Given the description of an element on the screen output the (x, y) to click on. 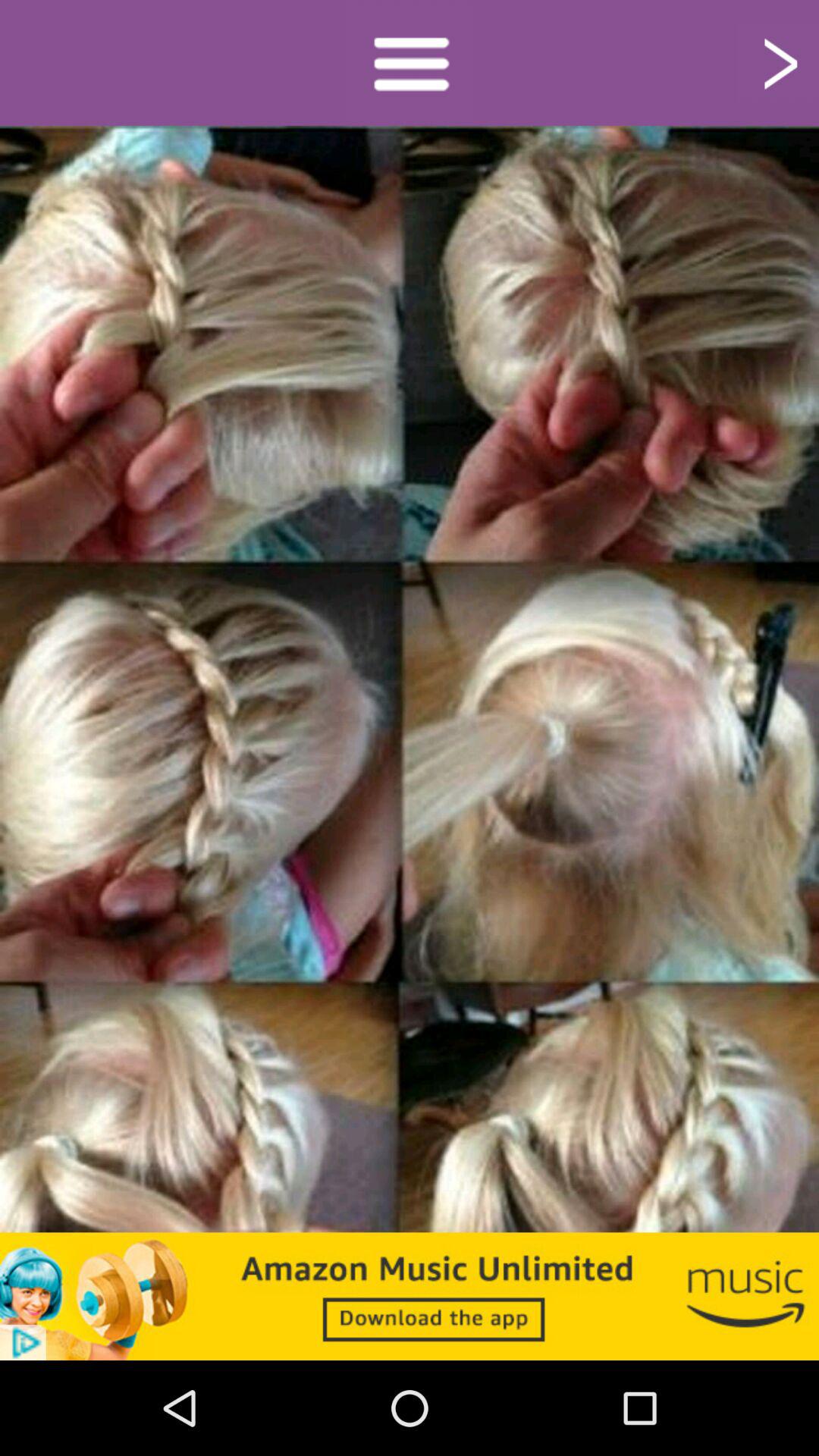
press the 3 stacked lines (409, 62)
